Given the description of an element on the screen output the (x, y) to click on. 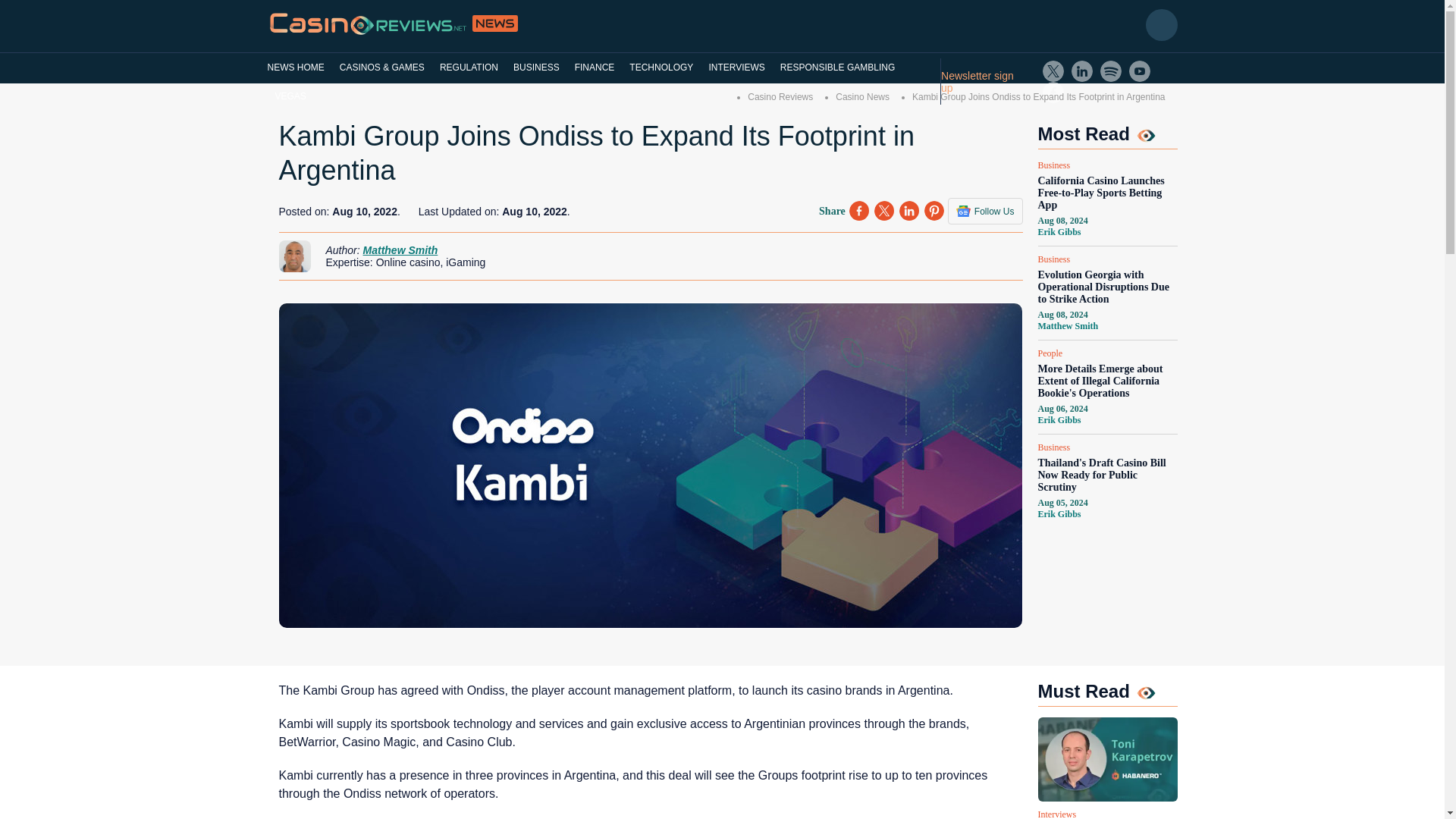
Youtube (1139, 70)
Casino Reviews (780, 96)
Facebook (1053, 92)
Follow Us (985, 211)
Matthew Smith (400, 250)
NEWS HOME (298, 67)
RESPONSIBLE GAMBLING (837, 67)
Thailand's Draft Casino Bill Now Ready for Public Scrutiny (1106, 475)
Casino News (862, 96)
